Given the description of an element on the screen output the (x, y) to click on. 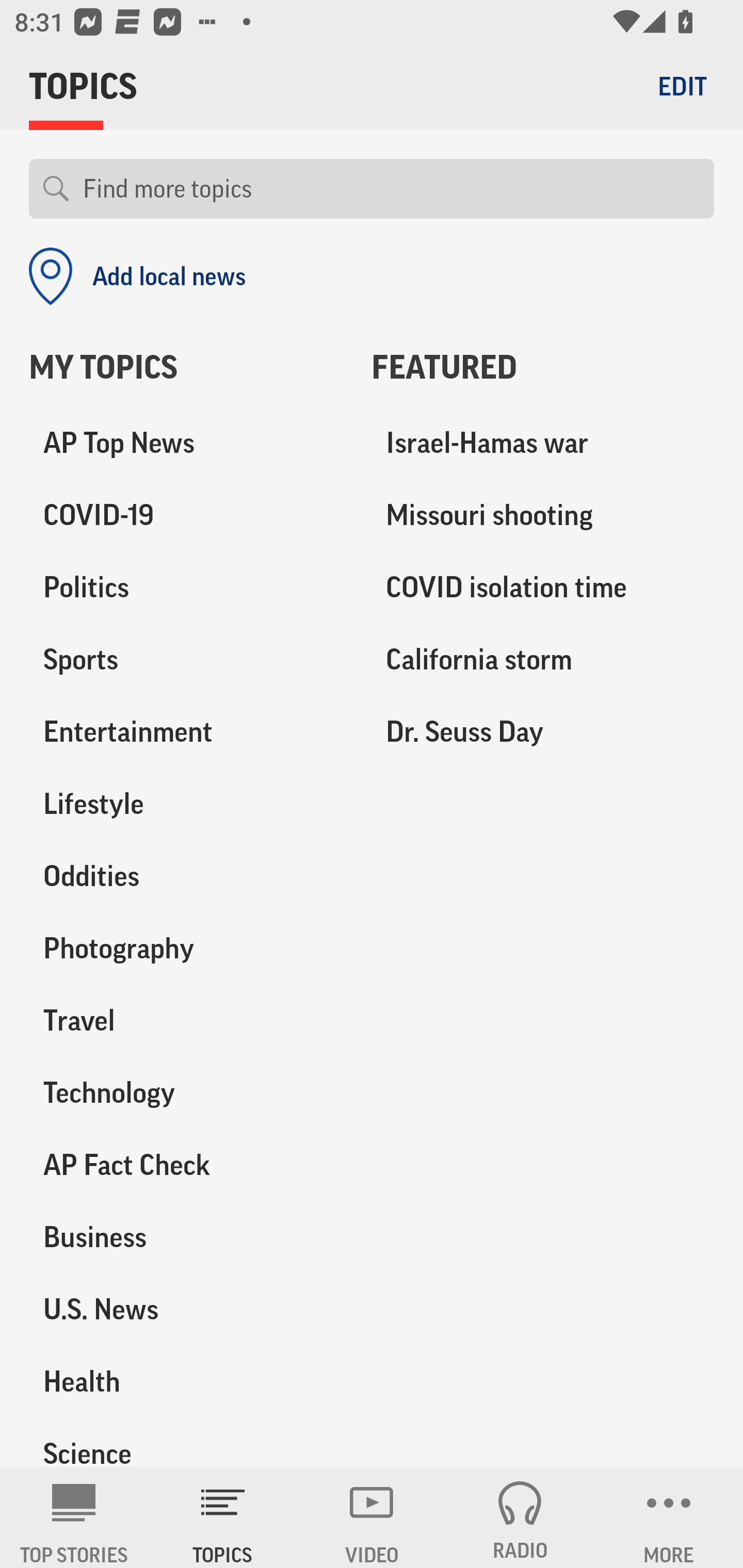
EDIT (682, 86)
Find more topics (391, 188)
Add local news (137, 276)
AP Top News (185, 443)
Israel-Hamas war (542, 443)
COVID-19 (185, 515)
Missouri shooting (542, 515)
Politics (185, 587)
COVID isolation time (542, 587)
Sports (185, 660)
California storm (542, 660)
Entertainment (185, 732)
Dr. Seuss Day (542, 732)
Lifestyle (185, 804)
Oddities (185, 876)
Photography (185, 948)
Travel (185, 1020)
Technology (185, 1092)
AP Fact Check (185, 1164)
Business (185, 1237)
U.S. News (185, 1309)
Health (185, 1381)
Science (185, 1442)
AP News TOP STORIES (74, 1517)
TOPICS (222, 1517)
VIDEO (371, 1517)
RADIO (519, 1517)
MORE (668, 1517)
